Given the description of an element on the screen output the (x, y) to click on. 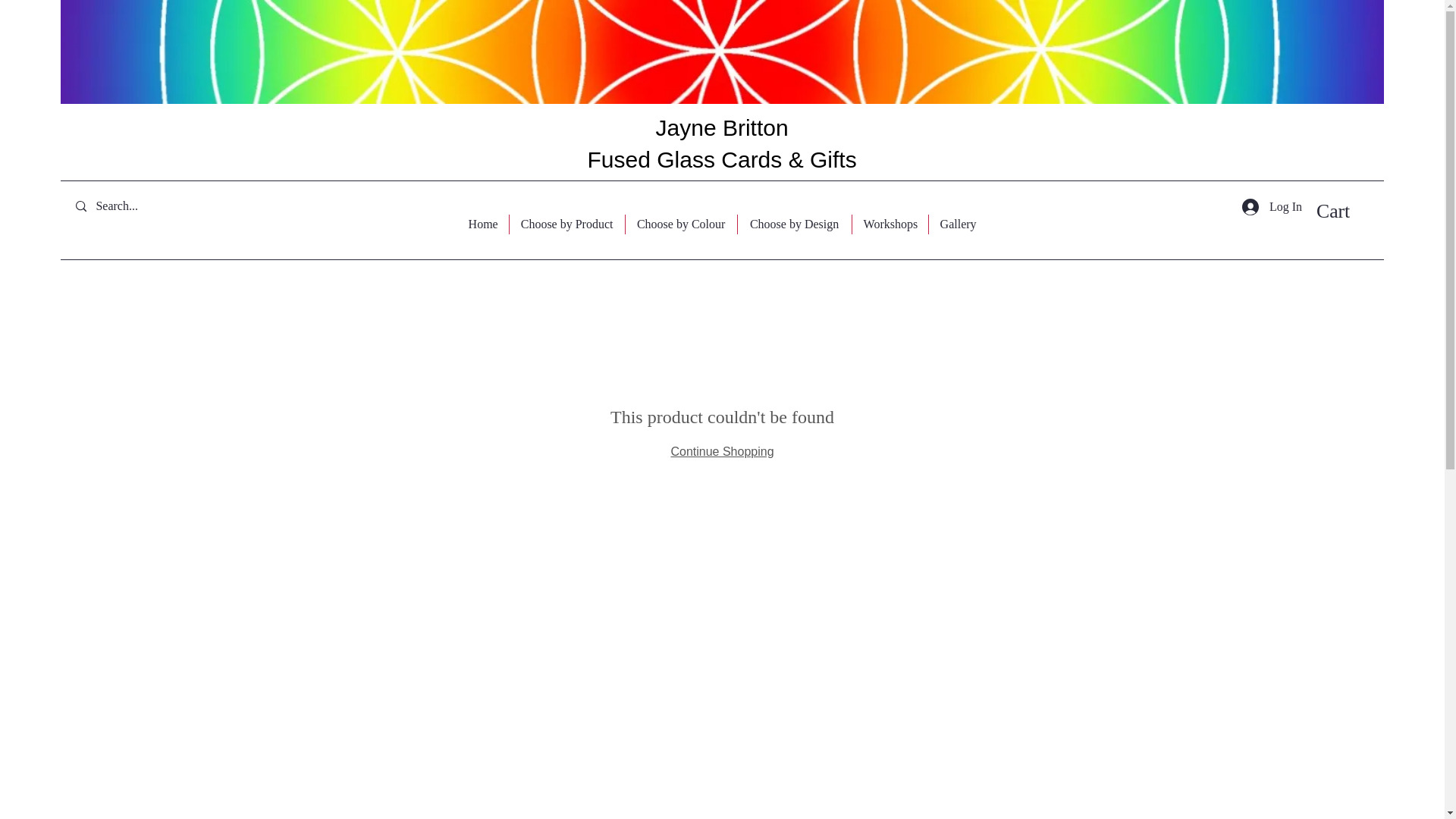
Choose by Product (566, 224)
Choose by Colour (681, 224)
Cart (1347, 210)
Jayne Britton (722, 127)
Choose by Design (794, 224)
Home (482, 224)
